Given the description of an element on the screen output the (x, y) to click on. 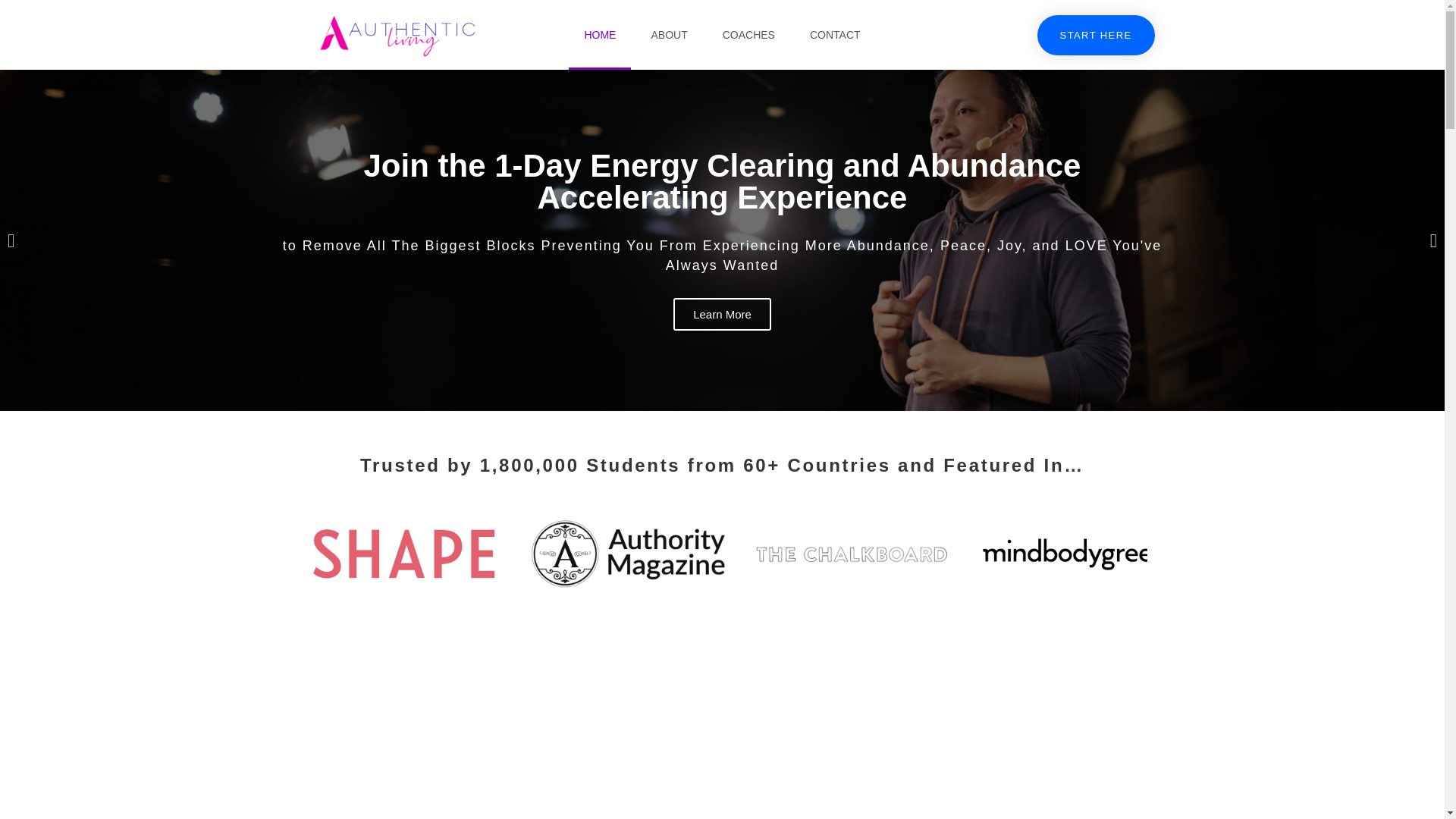
HOME (599, 34)
COACHES (748, 34)
The Chalkboard (850, 557)
START HERE (1095, 35)
Mind Body Green (1074, 557)
Shape Magazine (403, 557)
ABOUT (667, 34)
CONTACT (835, 34)
Authority Magazine (627, 557)
